Given the description of an element on the screen output the (x, y) to click on. 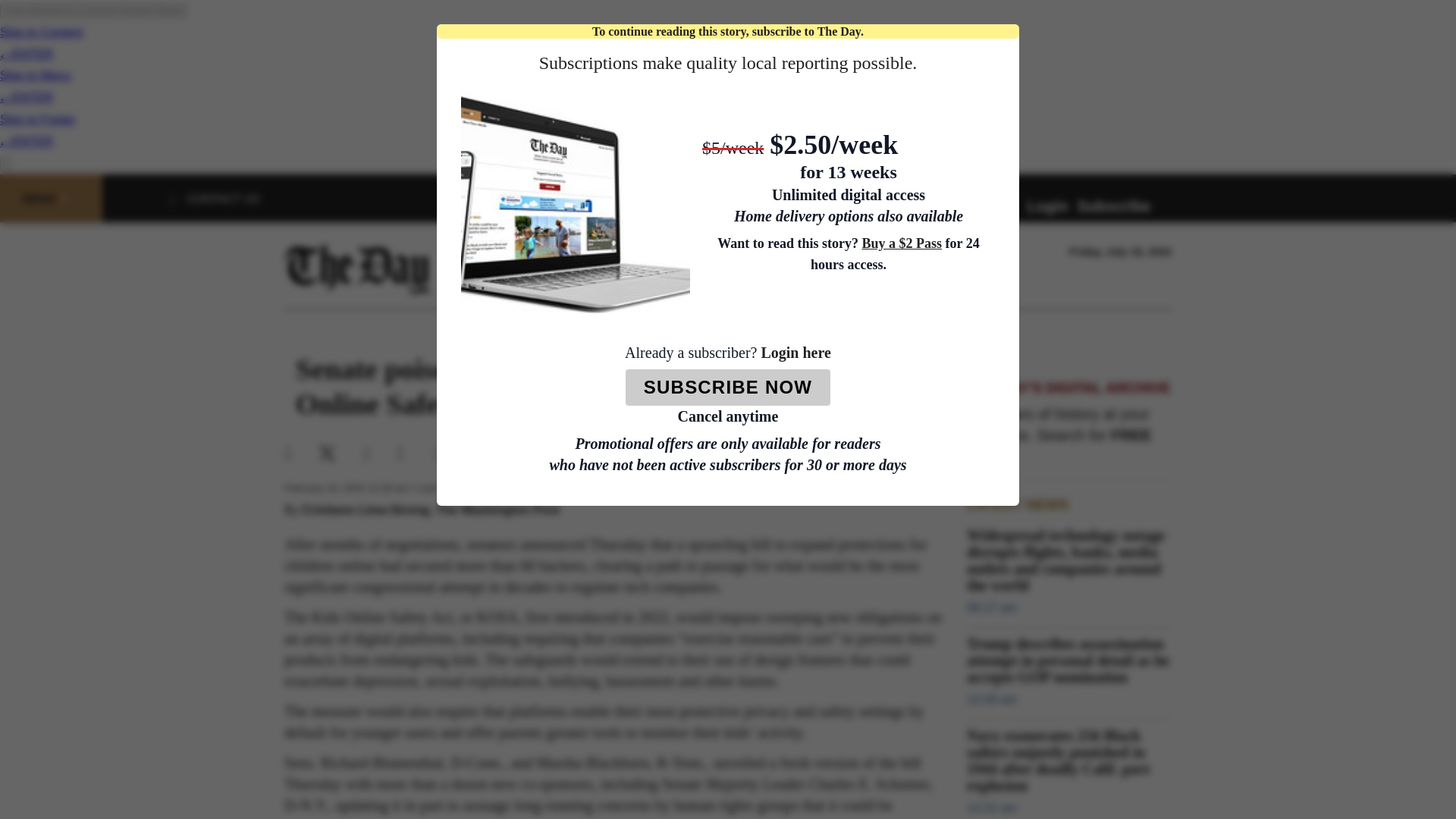
Share via Email (379, 453)
Contact Us (222, 198)
